Given the description of an element on the screen output the (x, y) to click on. 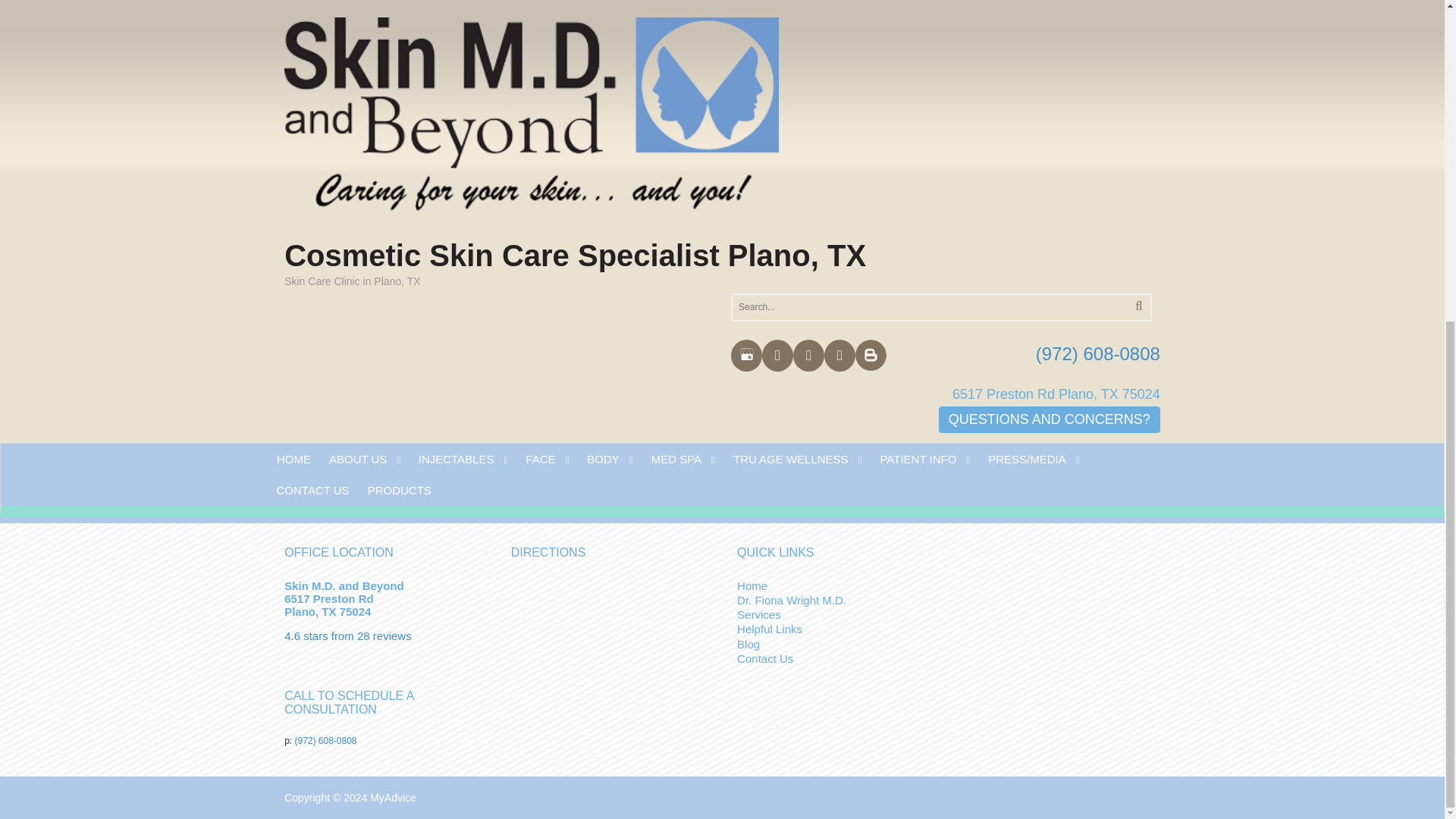
Choose Restylane to enhance your appearance! (875, 399)
Why choose Belotero? (815, 370)
Address sagging, thinning ears with ear lobe fillers (879, 415)
What is a non-surgical nose job? (838, 385)
RSS (306, 360)
